Given the description of an element on the screen output the (x, y) to click on. 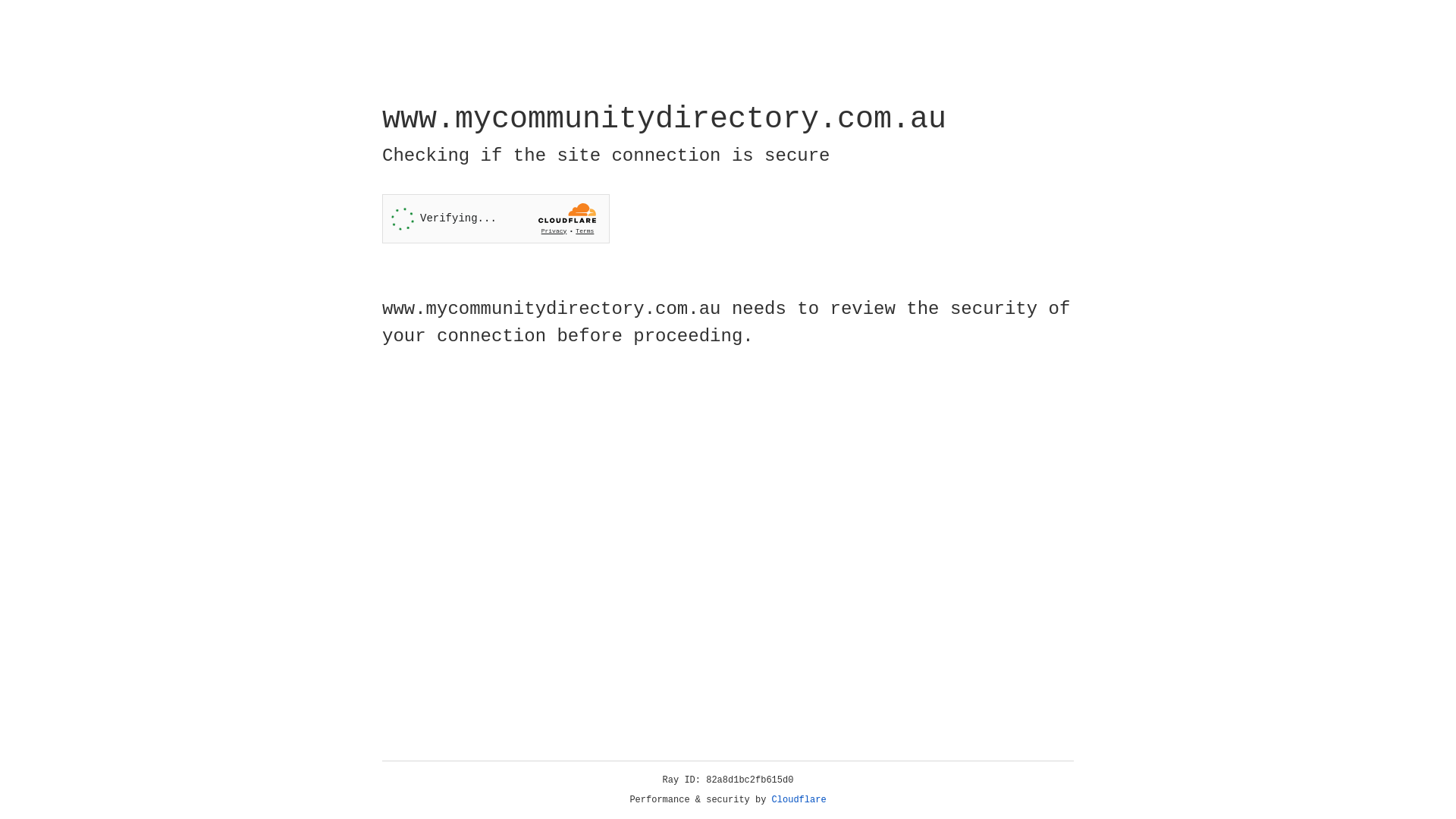
Cloudflare Element type: text (798, 799)
Widget containing a Cloudflare security challenge Element type: hover (495, 218)
